Given the description of an element on the screen output the (x, y) to click on. 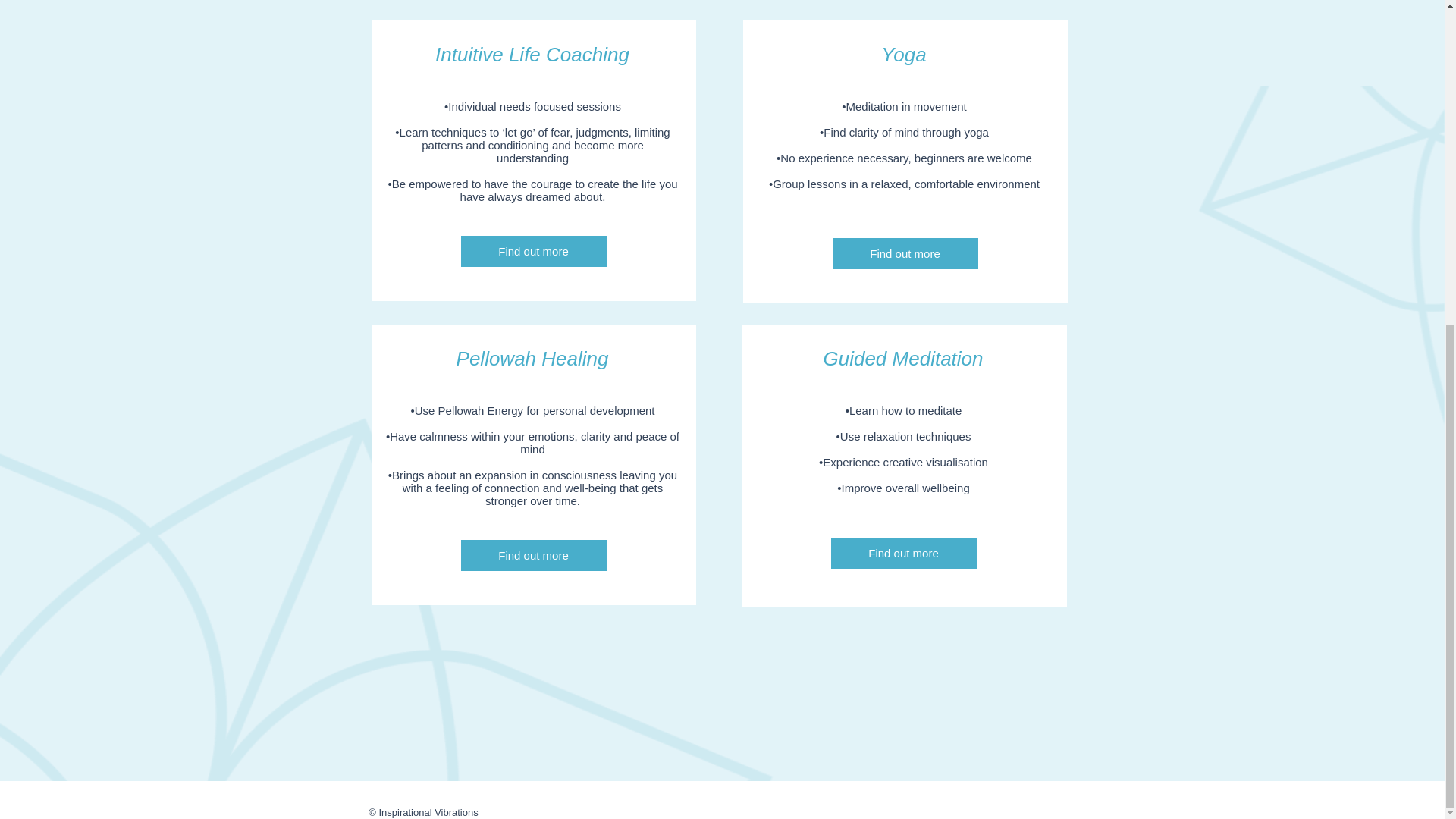
Find out more (534, 250)
Find out more (905, 253)
Find out more (903, 552)
Find out more (534, 554)
